Given the description of an element on the screen output the (x, y) to click on. 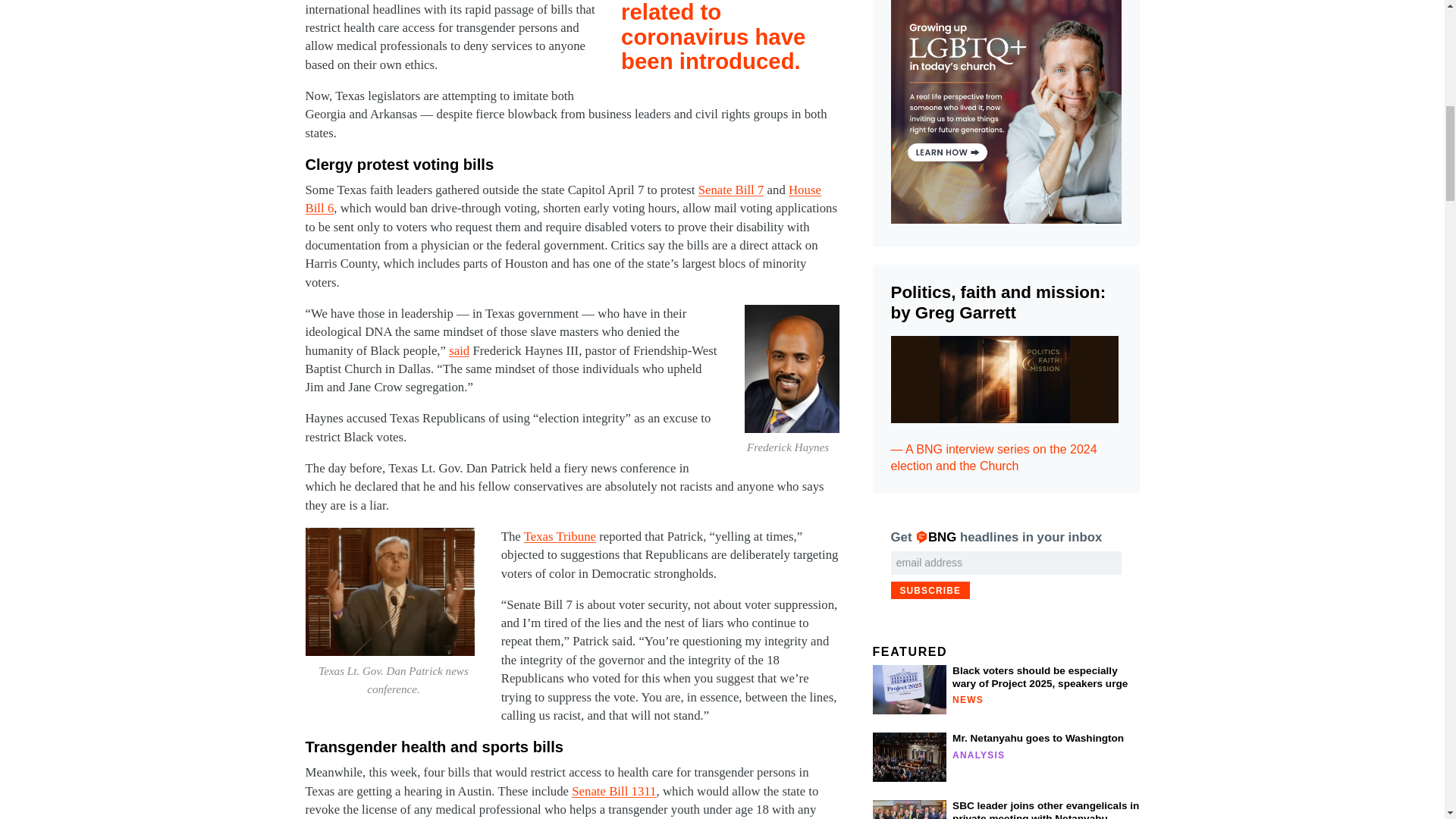
Subscribe (929, 590)
